Given the description of an element on the screen output the (x, y) to click on. 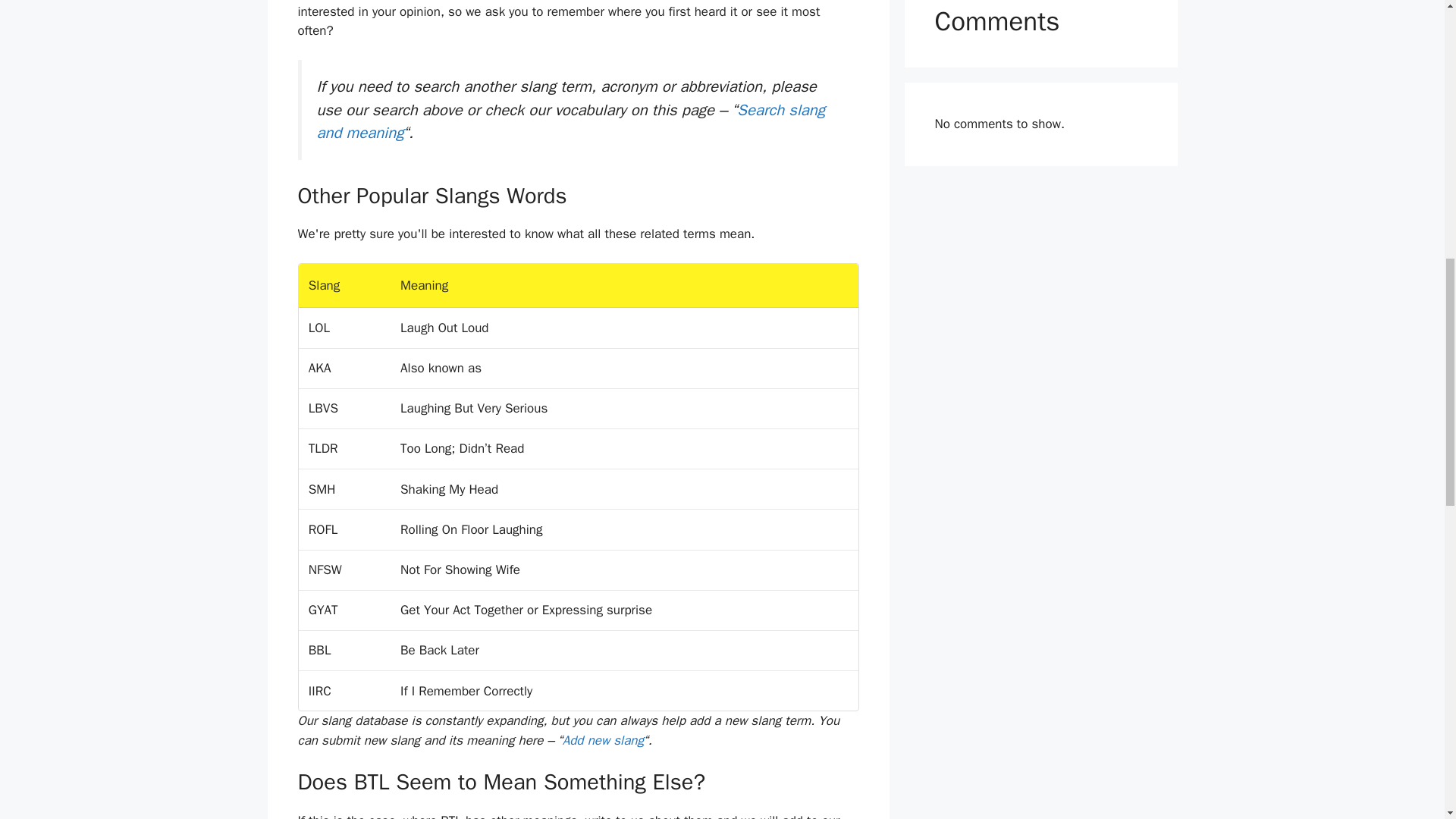
ROFL (322, 529)
LOL (319, 327)
Search slang and meaning (571, 121)
SMH (322, 489)
Add new slang (602, 740)
LBVS (322, 408)
AKA (319, 367)
TLDR (322, 448)
NFSW (325, 569)
BBL (319, 650)
IIRC (319, 690)
GYAT (322, 609)
